Given the description of an element on the screen output the (x, y) to click on. 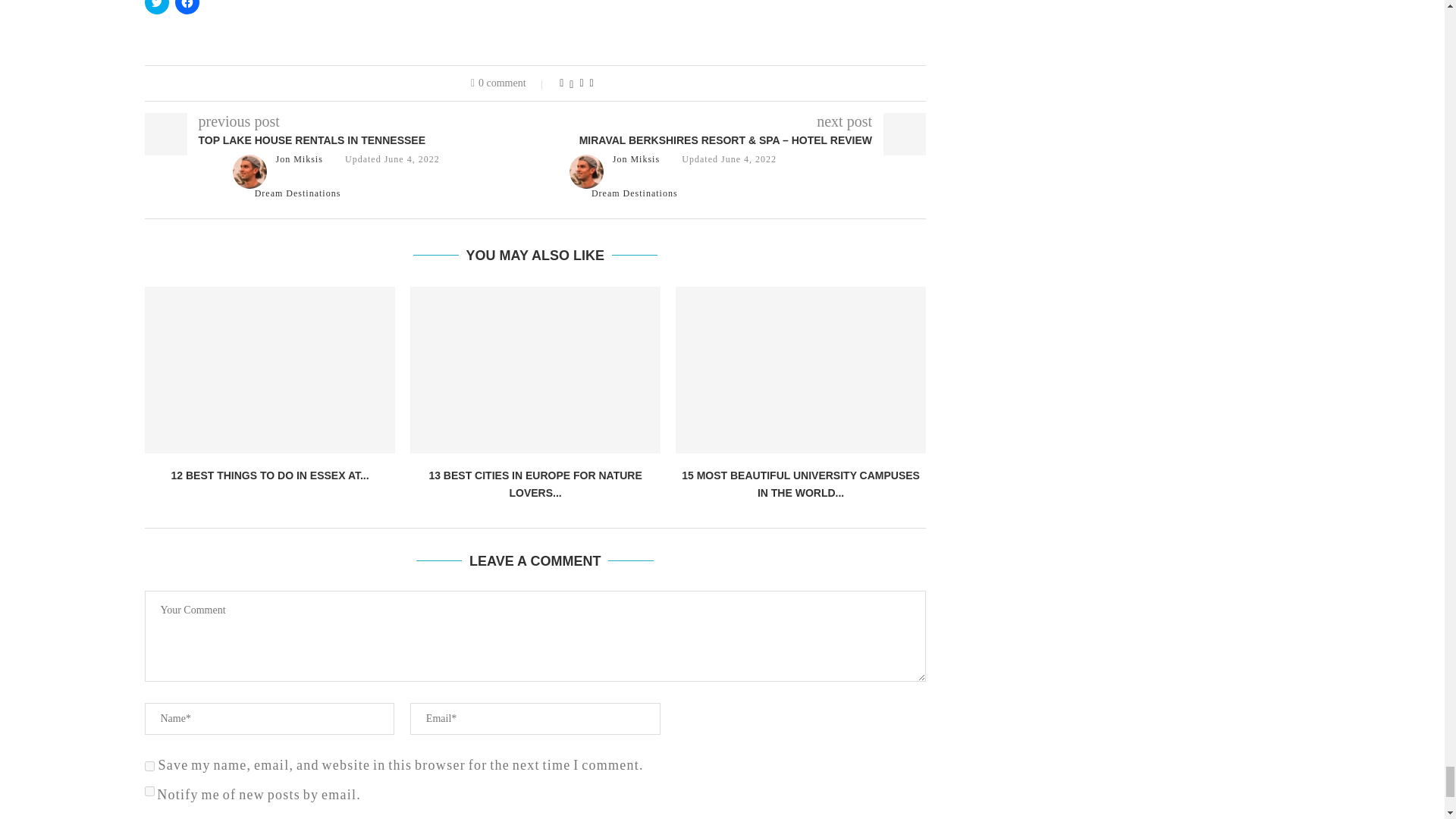
Click to share on Facebook (186, 7)
subscribe (149, 791)
Click to share on Twitter (156, 7)
yes (149, 766)
